Given the description of an element on the screen output the (x, y) to click on. 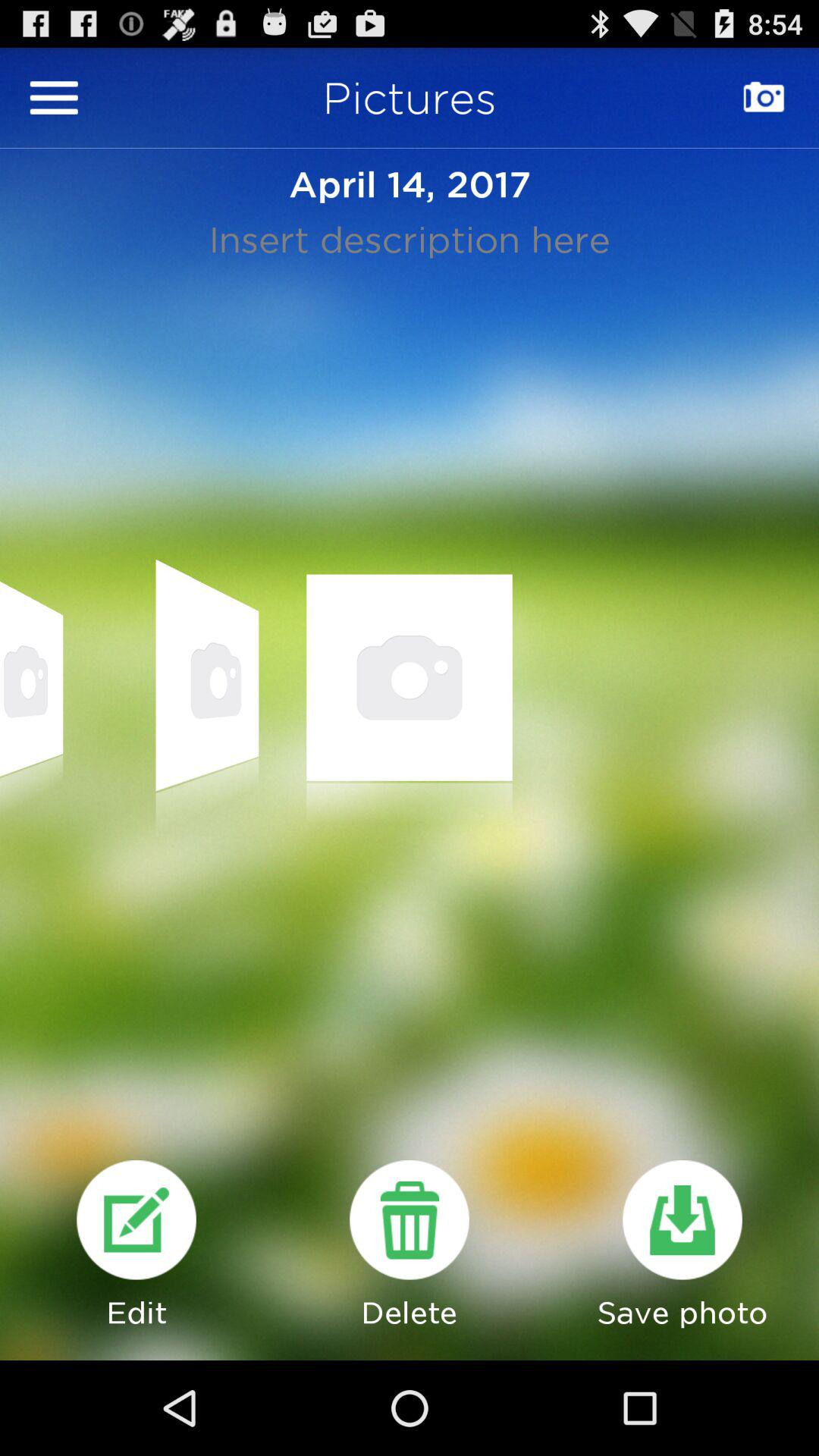
delete page (409, 1219)
